Given the description of an element on the screen output the (x, y) to click on. 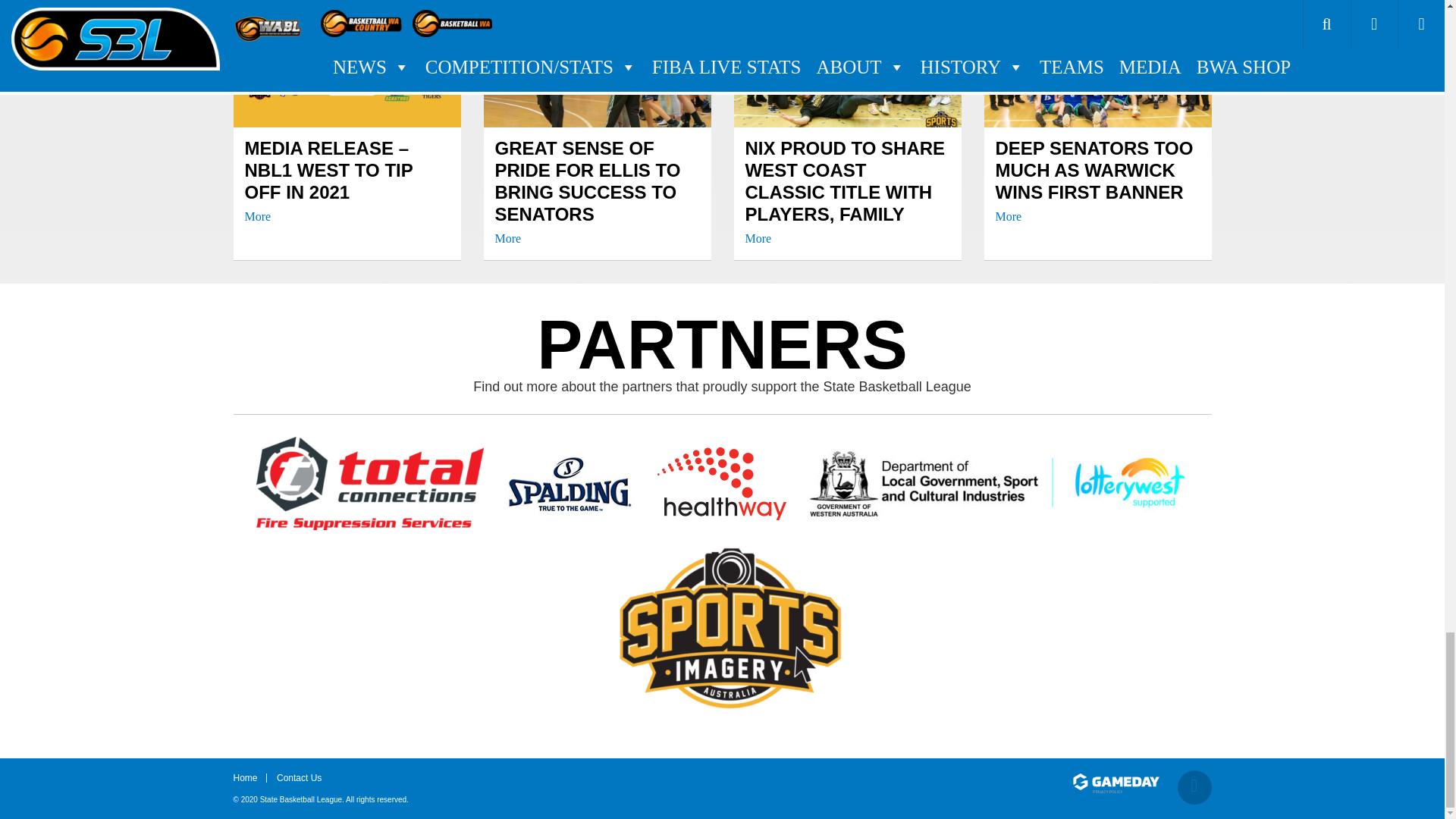
Great sense of pride for Ellis to bring success to Senators (596, 190)
more (257, 216)
